Given the description of an element on the screen output the (x, y) to click on. 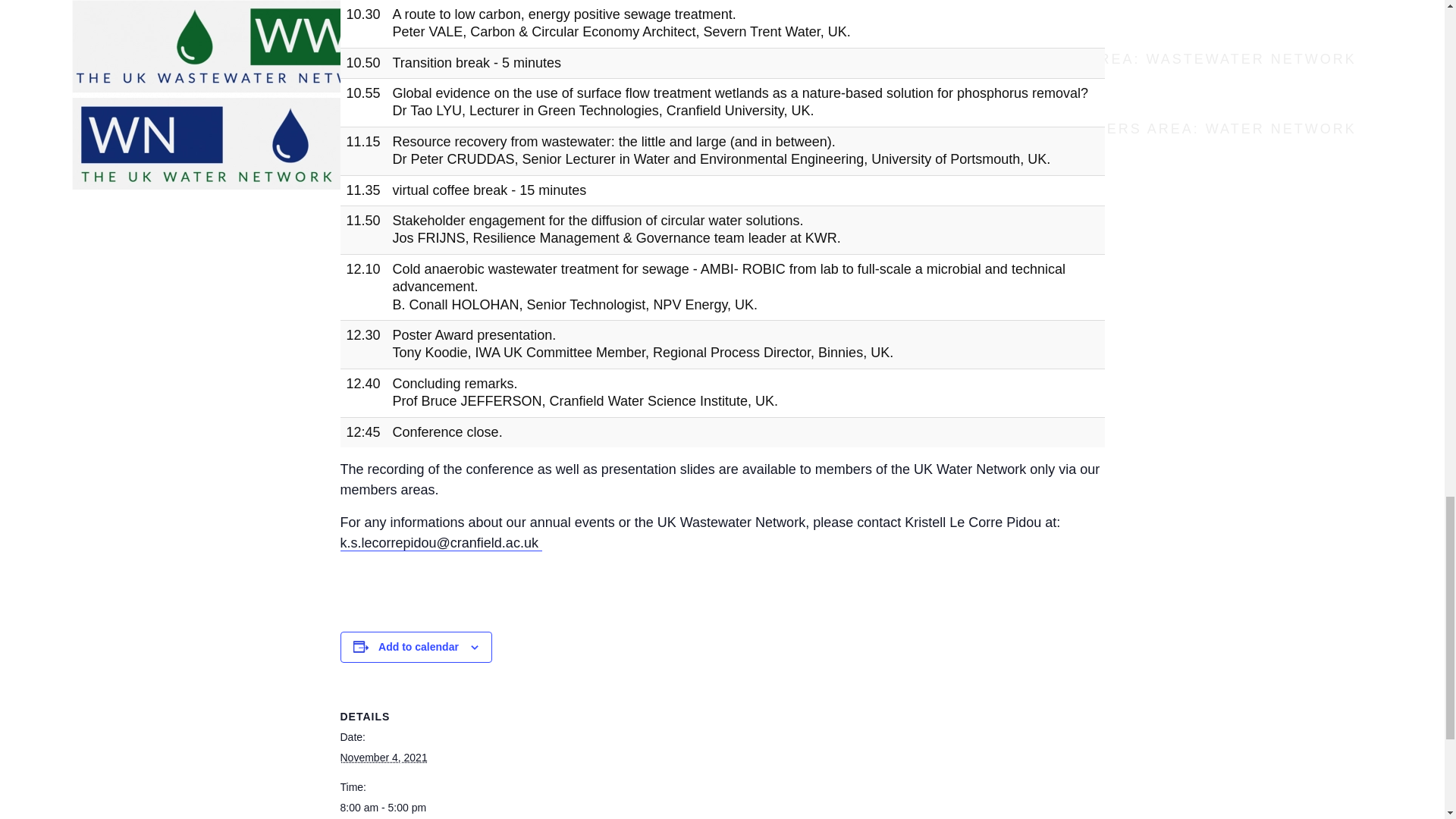
2021-11-04 (403, 807)
Add to calendar (418, 646)
2021-11-04 (382, 757)
